Given the description of an element on the screen output the (x, y) to click on. 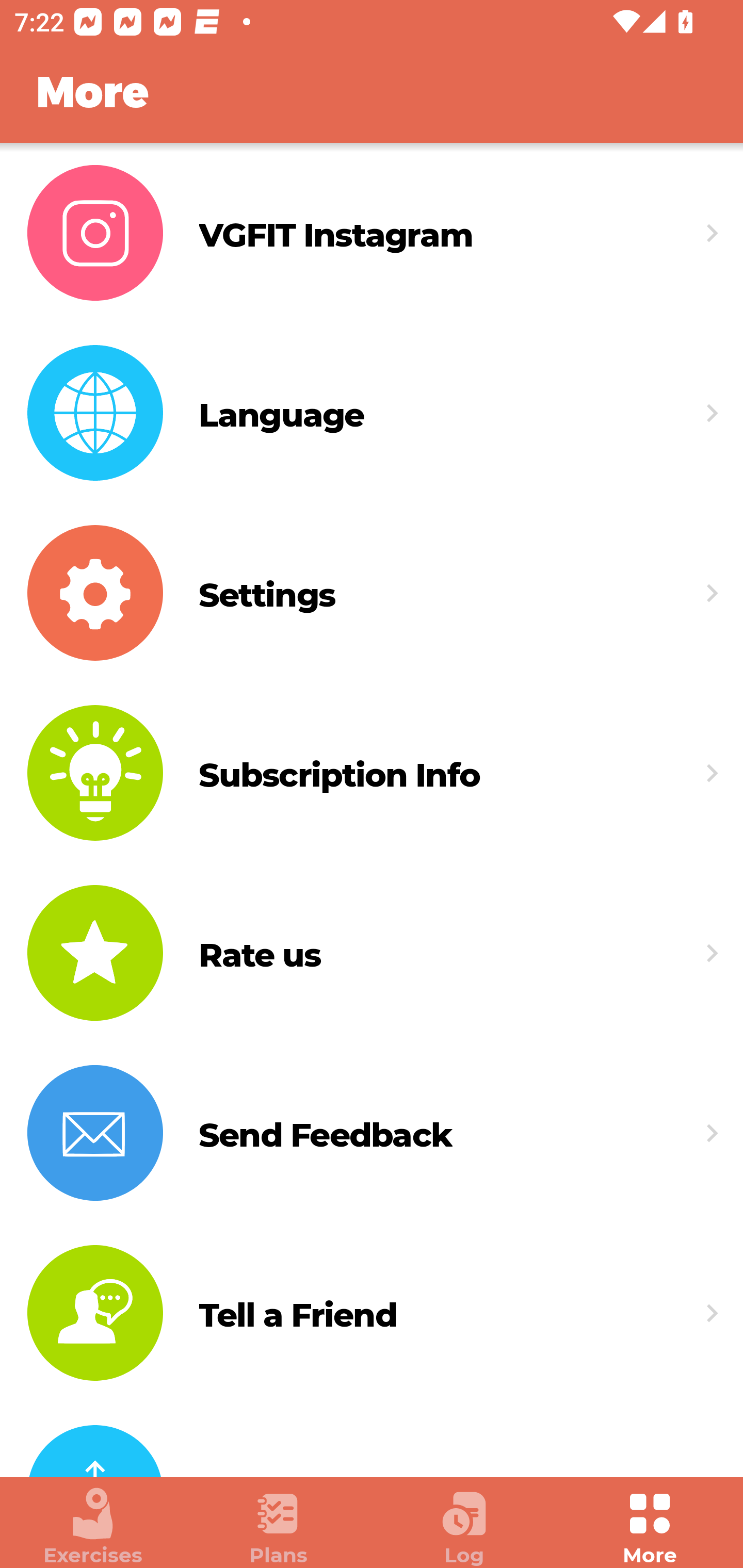
VGFIT Instagram (371, 232)
Language (371, 413)
Settings (371, 593)
Subscription Info (371, 773)
Rate us (371, 952)
Send Feedback (371, 1132)
Tell a Friend (371, 1313)
Exercises (92, 1527)
Plans (278, 1527)
Log (464, 1527)
More (650, 1527)
